Given the description of an element on the screen output the (x, y) to click on. 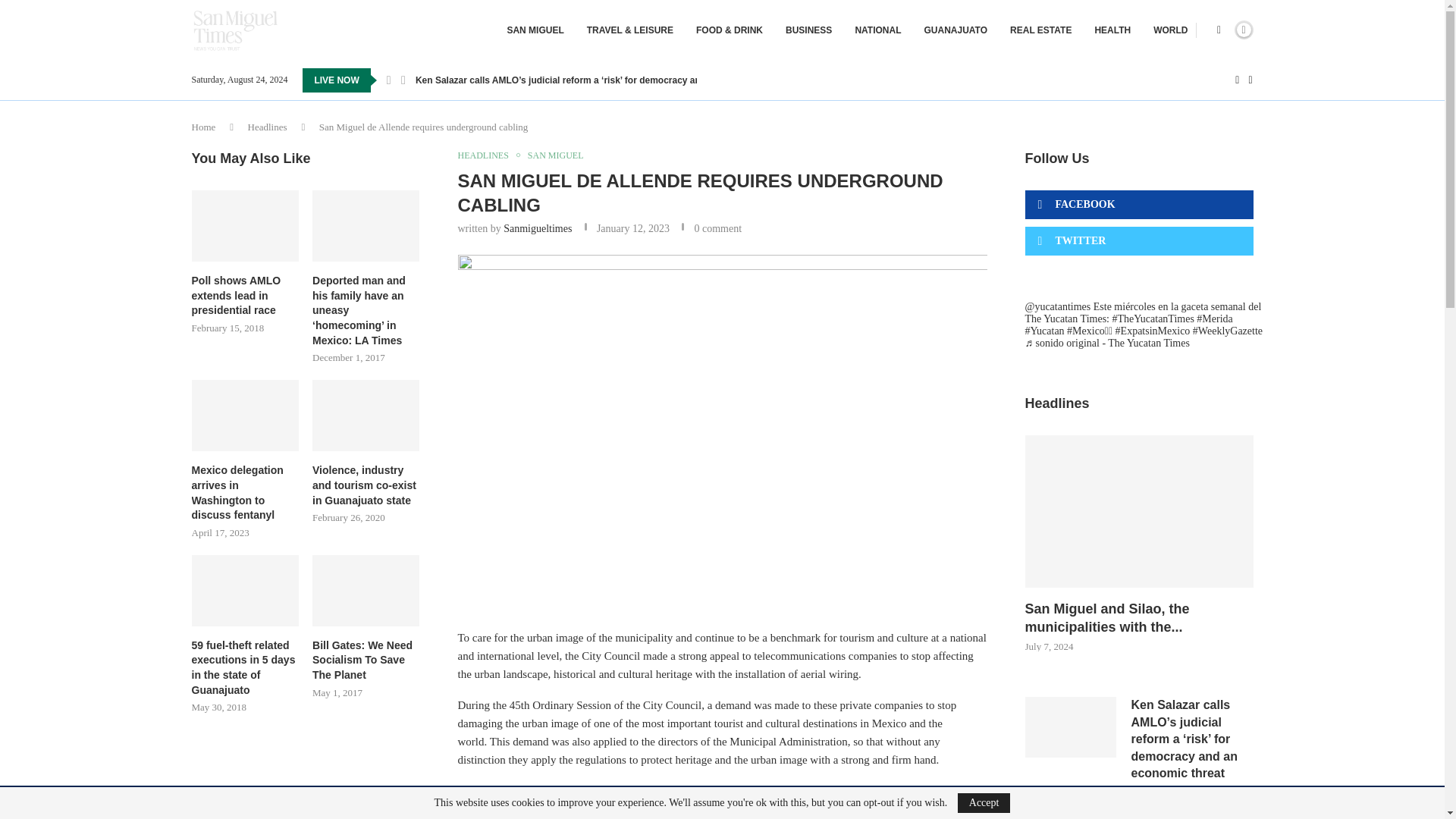
SAN MIGUEL (534, 30)
GUANAJUATO (955, 30)
NATIONAL (877, 30)
BUSINESS (808, 30)
REAL ESTATE (1040, 30)
